Given the description of an element on the screen output the (x, y) to click on. 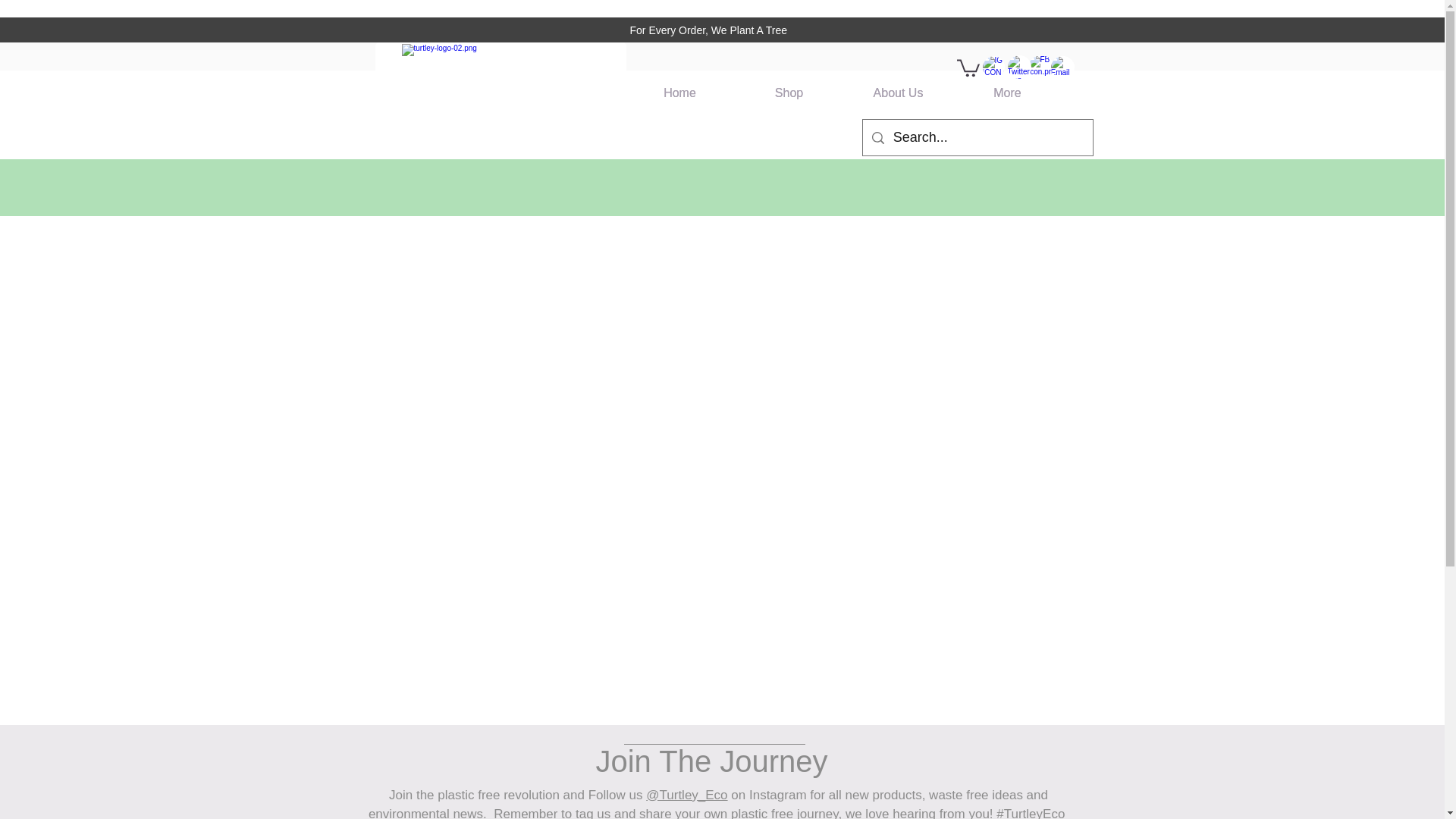
guy4.jpg (1040, 66)
guy4.jpg (993, 66)
Home (678, 92)
guy4.jpg (1018, 66)
guy4.jpg (1062, 66)
Shop (788, 92)
About Us (897, 92)
